Given the description of an element on the screen output the (x, y) to click on. 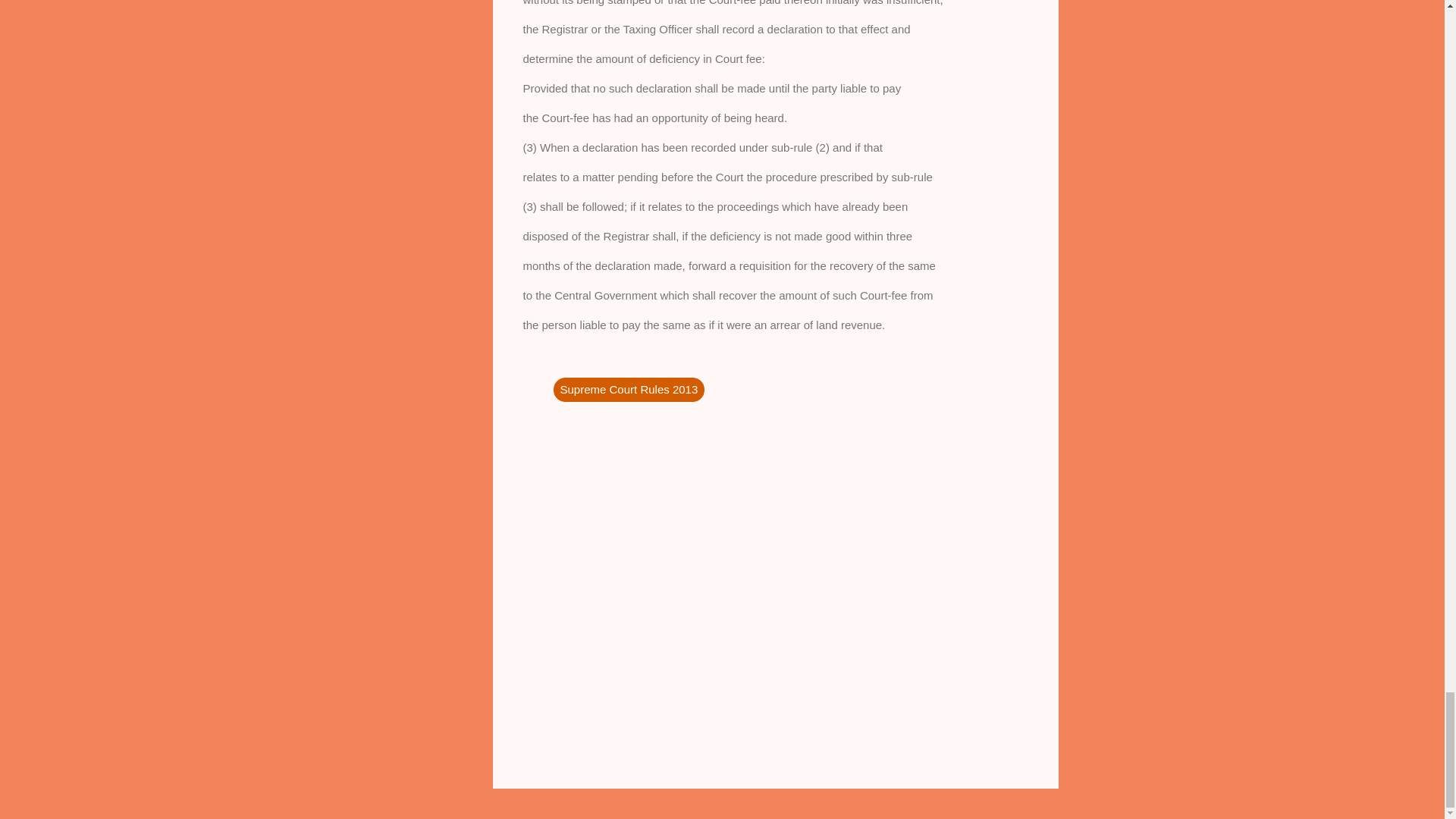
Supreme Court Rules 2013 (628, 389)
